Given the description of an element on the screen output the (x, y) to click on. 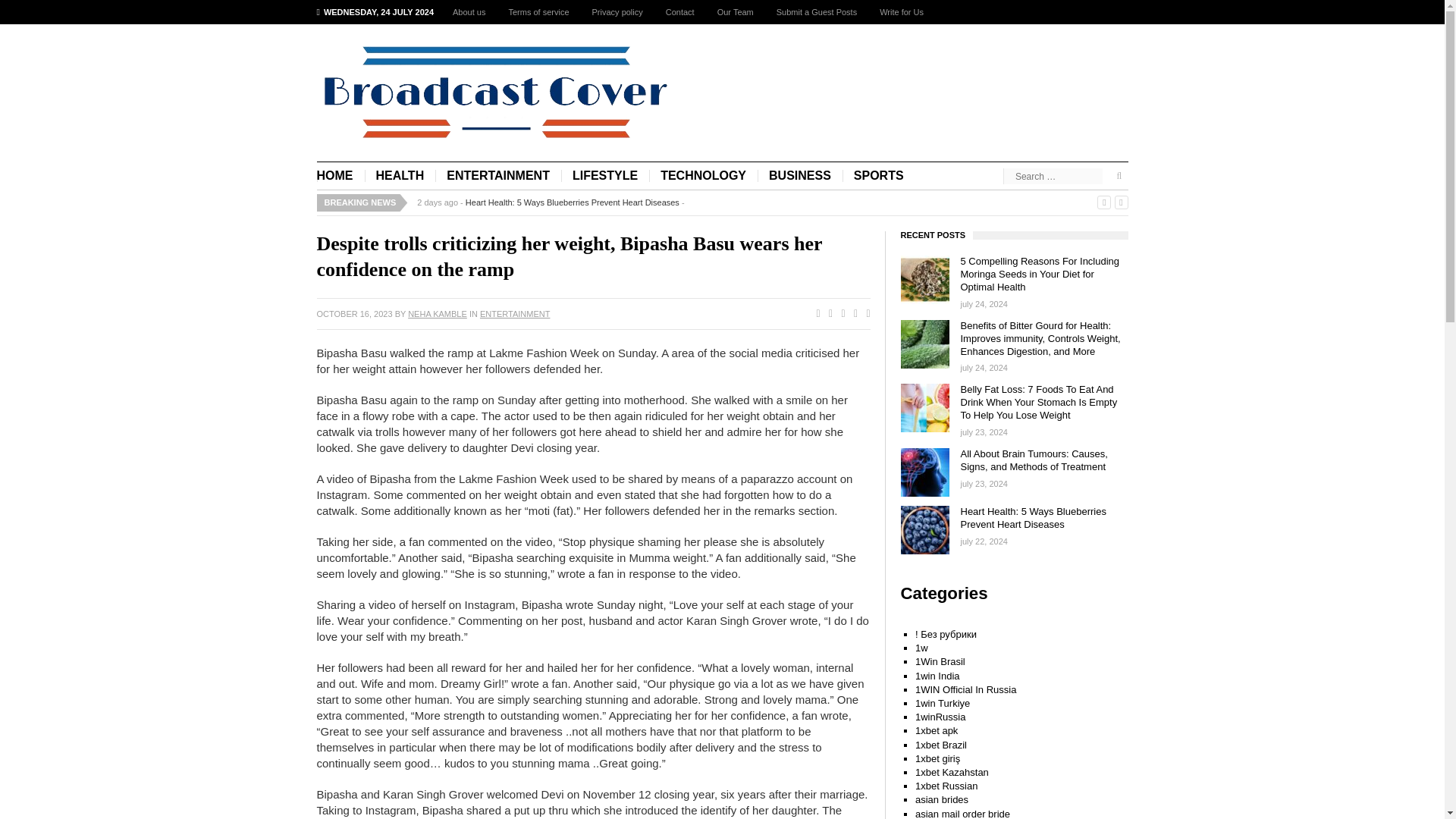
NEHA KAMBLE (437, 313)
SPORTS (879, 175)
Heart Health: 5 Ways Blueberries Prevent Heart Diseases (572, 202)
Privacy policy (616, 12)
HEALTH (399, 175)
GooglePlus (839, 313)
Pinterest (852, 313)
ENTERTAINMENT (515, 313)
Twitter (827, 313)
LinkedIn (864, 313)
HOME (341, 175)
About us (468, 12)
Our Team (735, 12)
Write for Us (900, 12)
LIFESTYLE (604, 175)
